Given the description of an element on the screen output the (x, y) to click on. 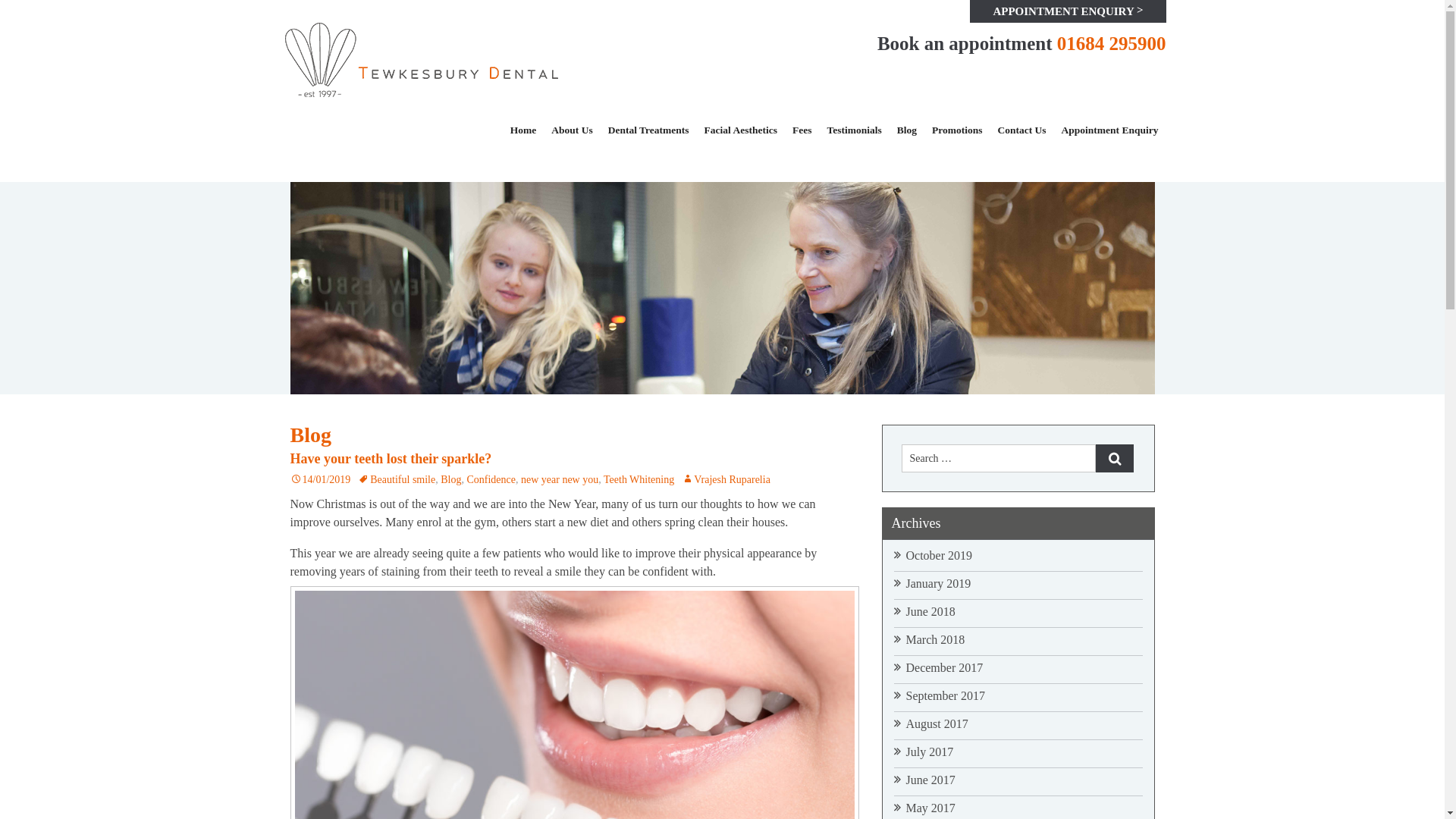
Facial Aesthetics (740, 130)
Contact Us (1021, 130)
Promotions (957, 130)
About Us (571, 130)
Beautiful smile (396, 479)
Blog (906, 130)
Search (1113, 458)
Search (1113, 458)
Home (523, 130)
